Given the description of an element on the screen output the (x, y) to click on. 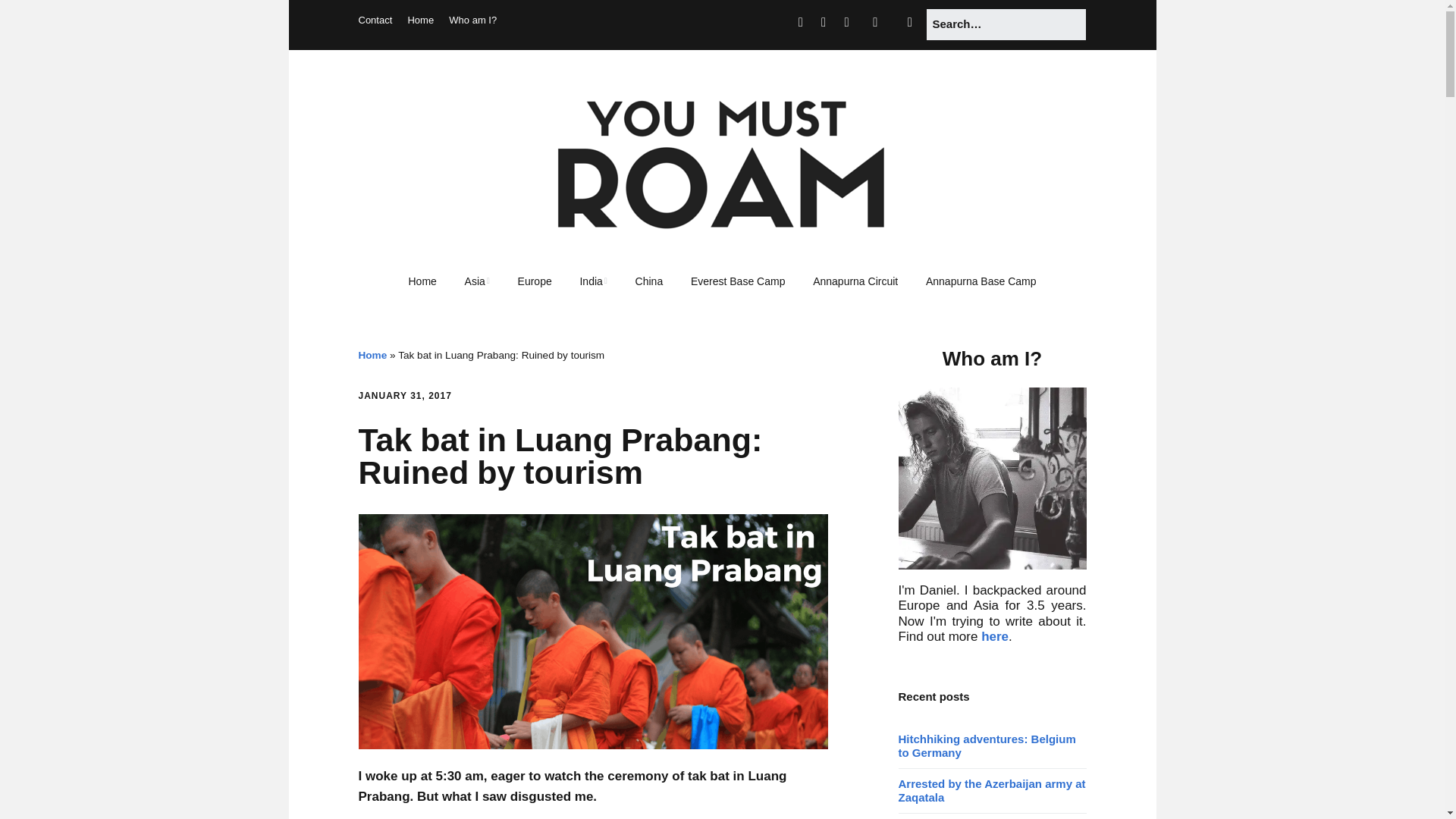
Press Enter to submit your search (1005, 24)
Who am I? (472, 19)
Search (33, 19)
Home (422, 282)
Home (420, 19)
Contact (374, 19)
Asia (477, 282)
